Given the description of an element on the screen output the (x, y) to click on. 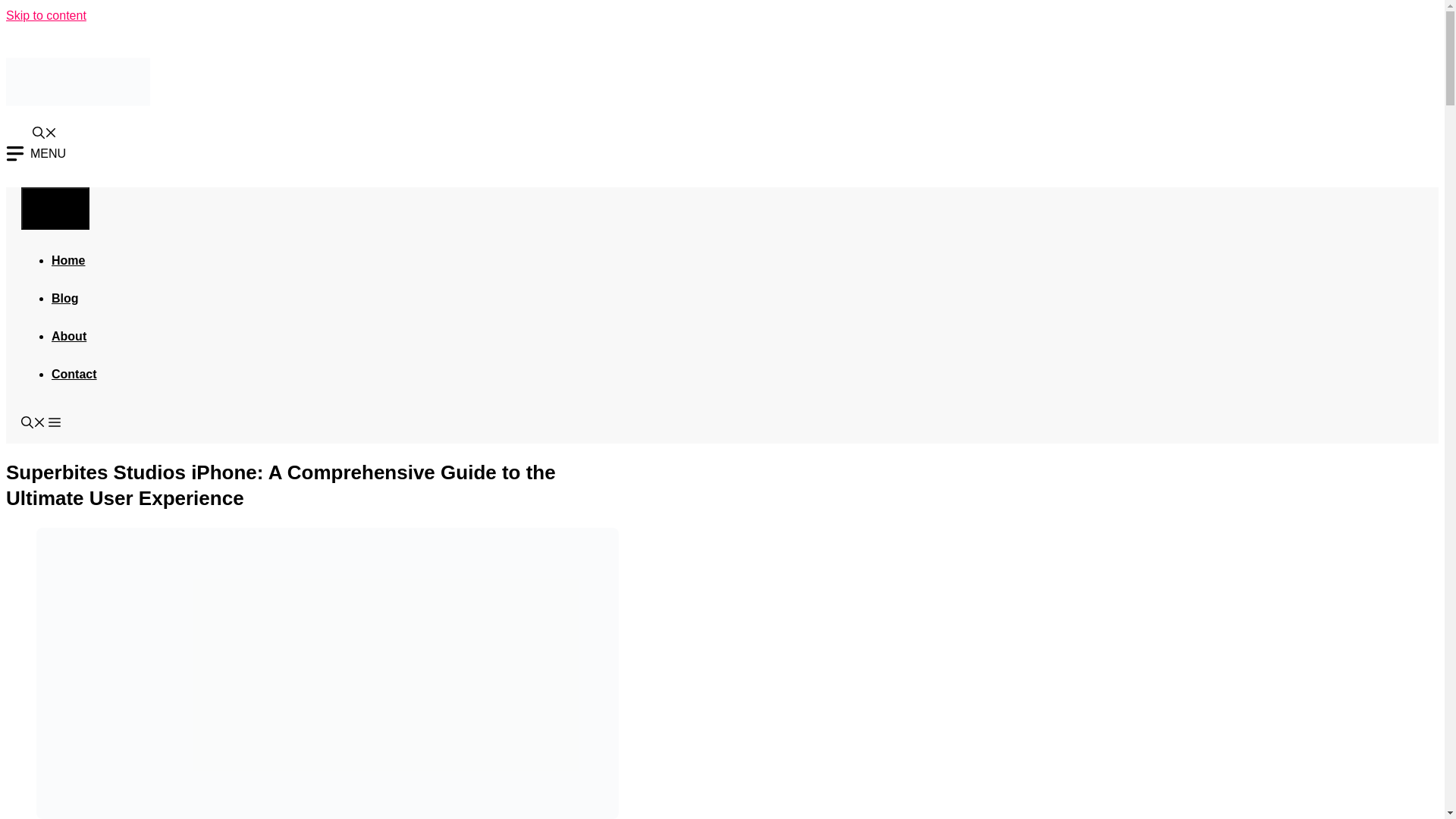
Contact (73, 373)
Menu (54, 207)
About (67, 335)
Home (67, 259)
Blog (64, 297)
MENU (35, 153)
Skip to content (45, 15)
Skip to content (45, 15)
